Given the description of an element on the screen output the (x, y) to click on. 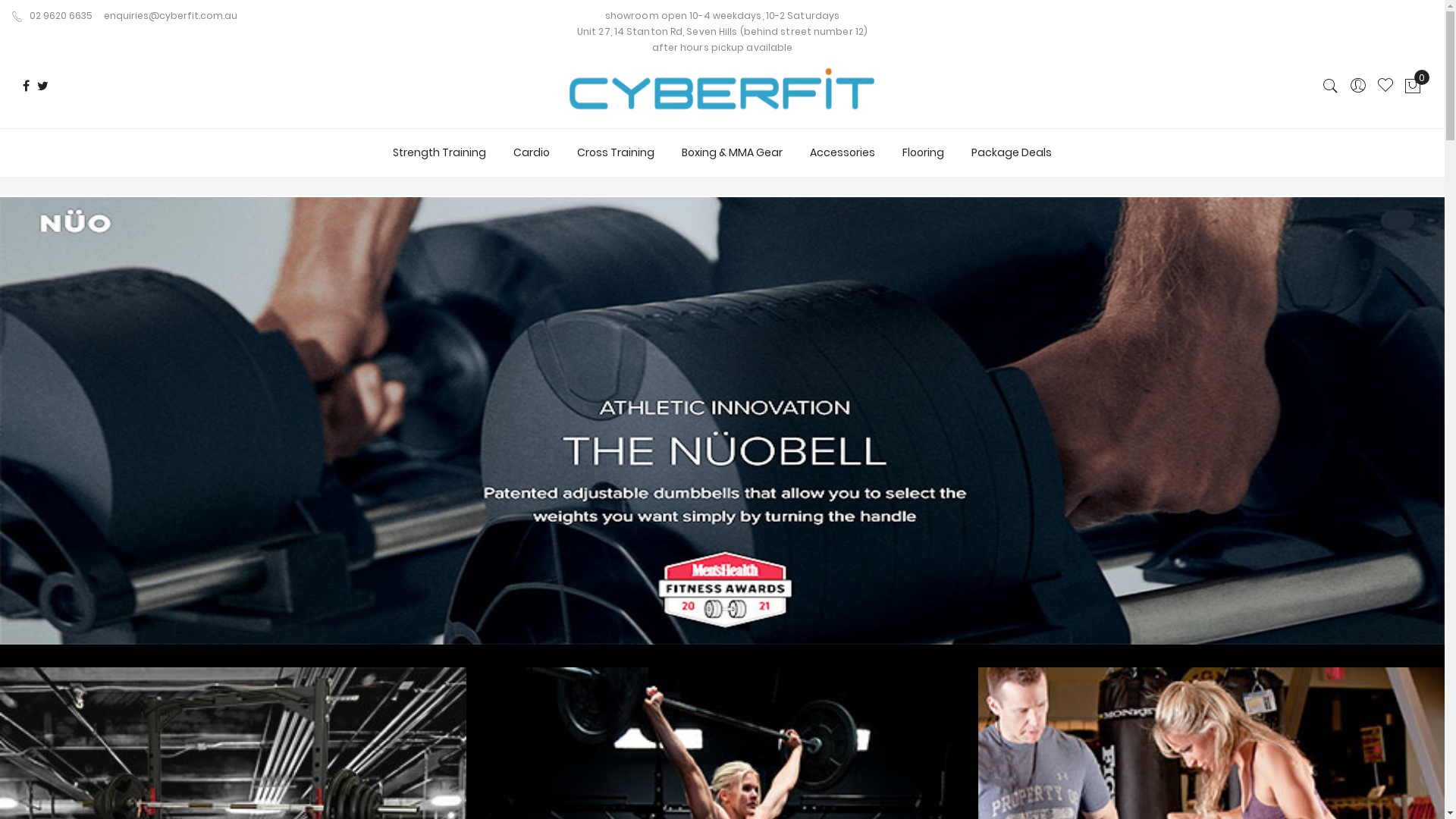
Accessories Element type: text (842, 152)
My Cart
0 Element type: text (1412, 86)
02 9620 6635 Element type: text (51, 15)
Cardio Element type: text (531, 152)
enquiries@cyberfit.com.au Element type: text (170, 15)
Cross Training Element type: text (615, 152)
Strength Training Element type: text (439, 152)
Boxing & MMA Gear Element type: text (732, 152)
Flooring Element type: text (922, 152)
Package Deals Element type: text (1011, 152)
